Given the description of an element on the screen output the (x, y) to click on. 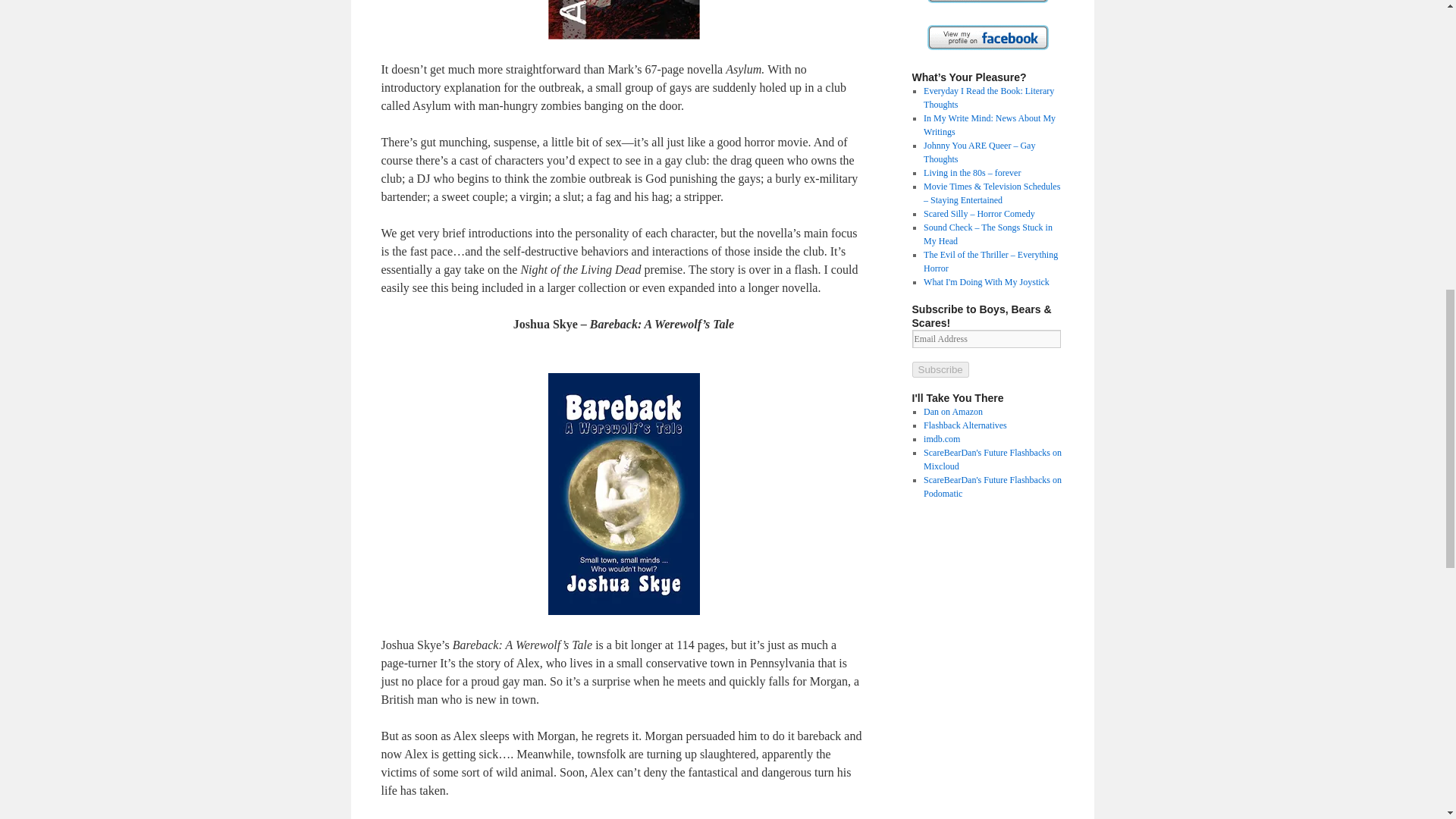
streaming episodes of my weekly modern wave show (992, 459)
Internet Movie Database (941, 439)
download episodes of my weekly modern wave show (992, 486)
The home of my radio show (965, 425)
